Given the description of an element on the screen output the (x, y) to click on. 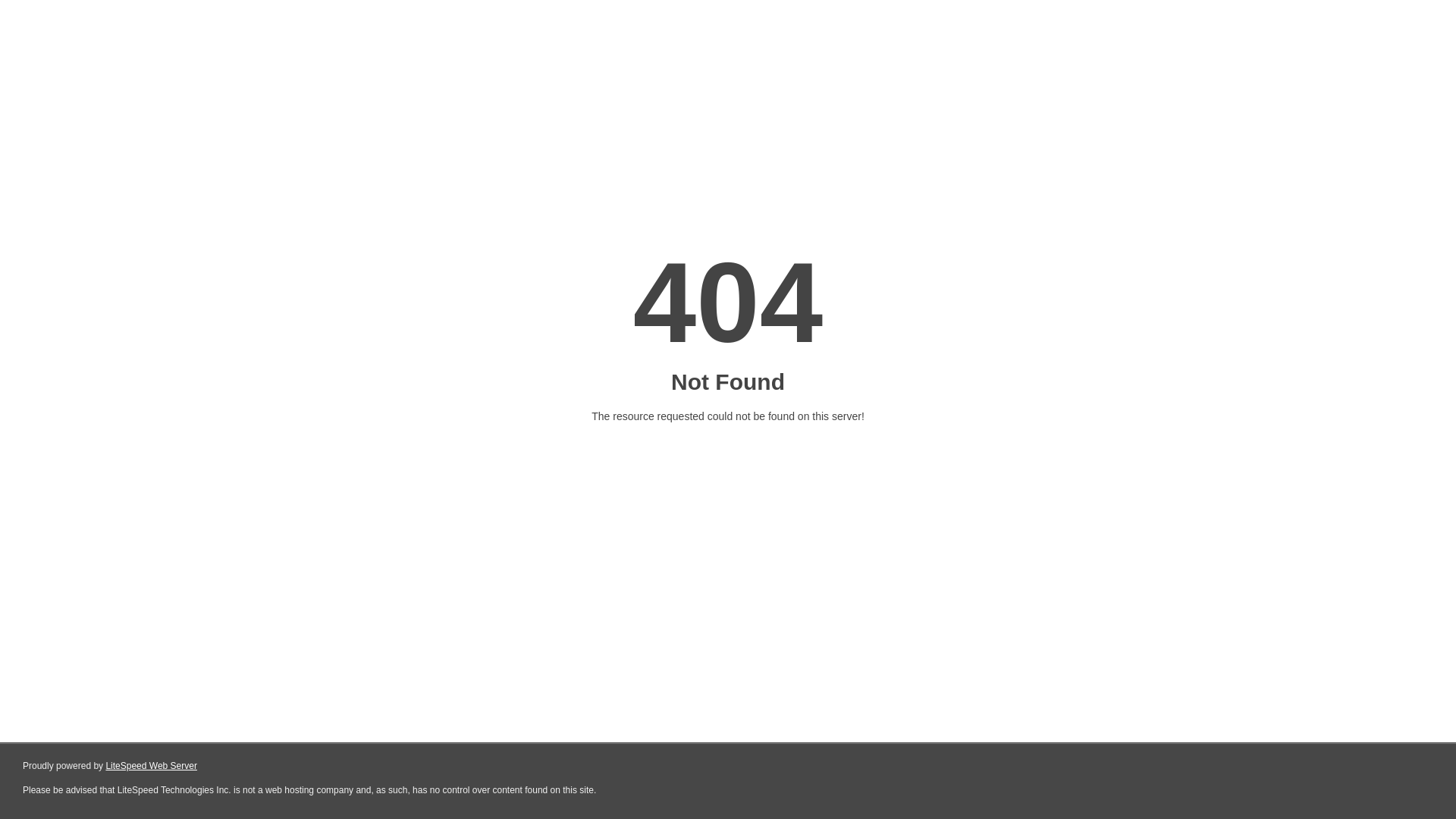
LiteSpeed Web Server (150, 765)
